Given the description of an element on the screen output the (x, y) to click on. 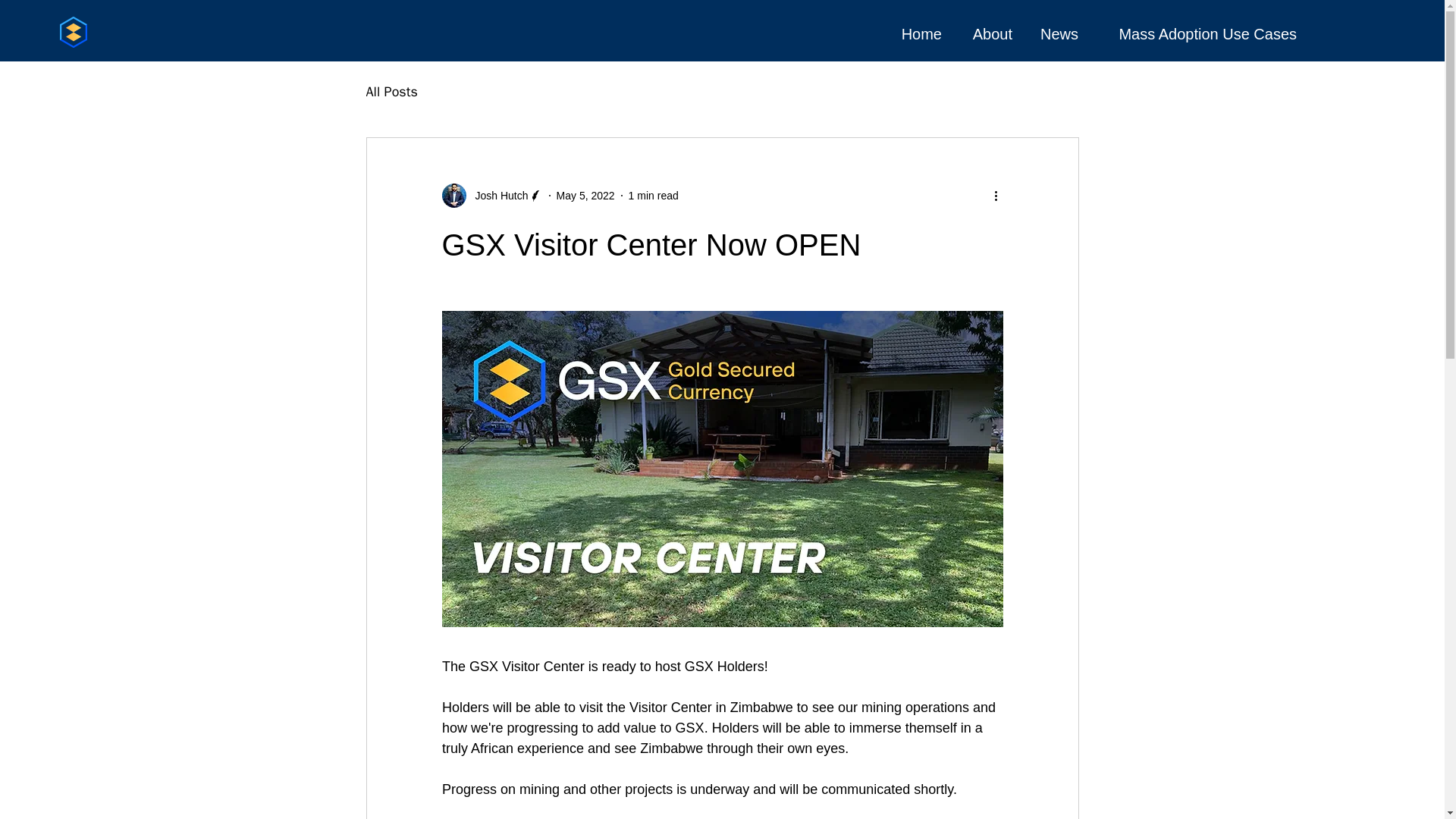
1 min read (653, 195)
Josh Hutch (496, 195)
News (1057, 33)
May 5, 2022 (585, 195)
Home (918, 33)
All Posts (390, 91)
About (988, 33)
Mass Adoption Use Cases (1198, 33)
